Given the description of an element on the screen output the (x, y) to click on. 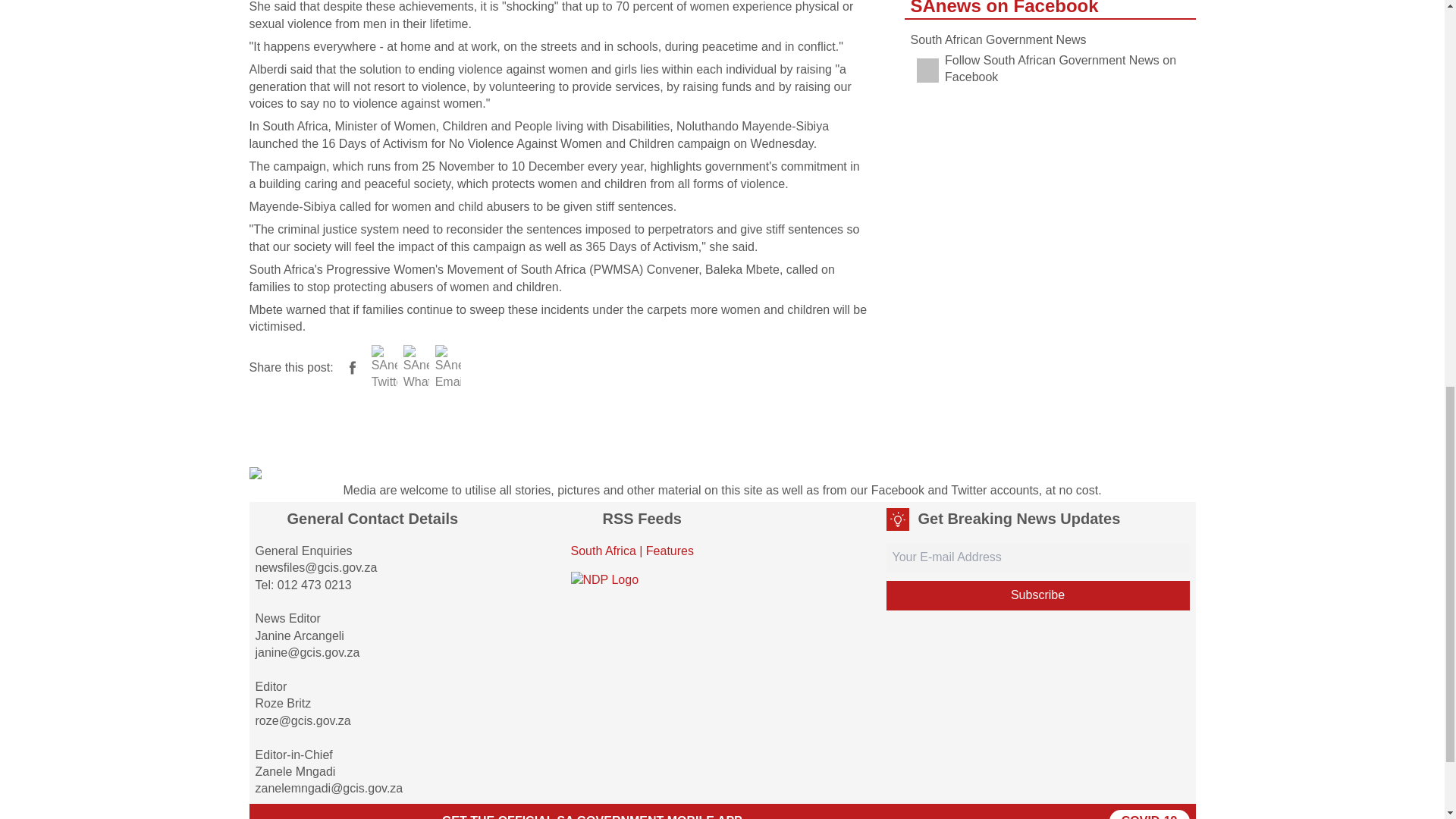
South Africa (602, 550)
Download from the iTunes App Store (381, 814)
Features (670, 550)
Subscribe (1037, 594)
Subscribe (1037, 594)
Follow South African Government News on Facebook (1049, 69)
South African Government News (998, 39)
Download from the Google Play Store (292, 814)
COVID-19 (1149, 814)
Share on Facebook (352, 368)
